Given the description of an element on the screen output the (x, y) to click on. 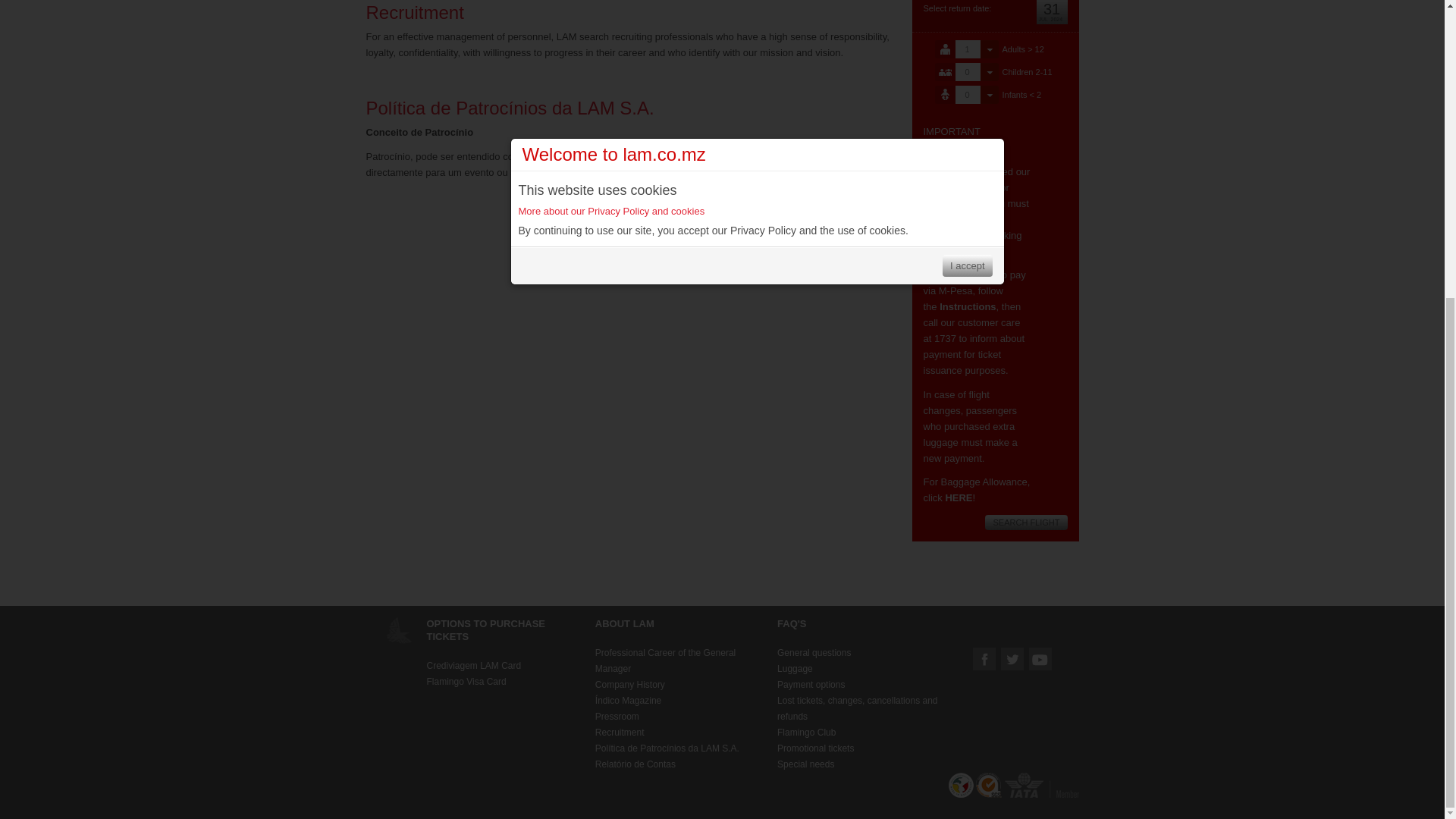
Search Flight (1026, 522)
